Given the description of an element on the screen output the (x, y) to click on. 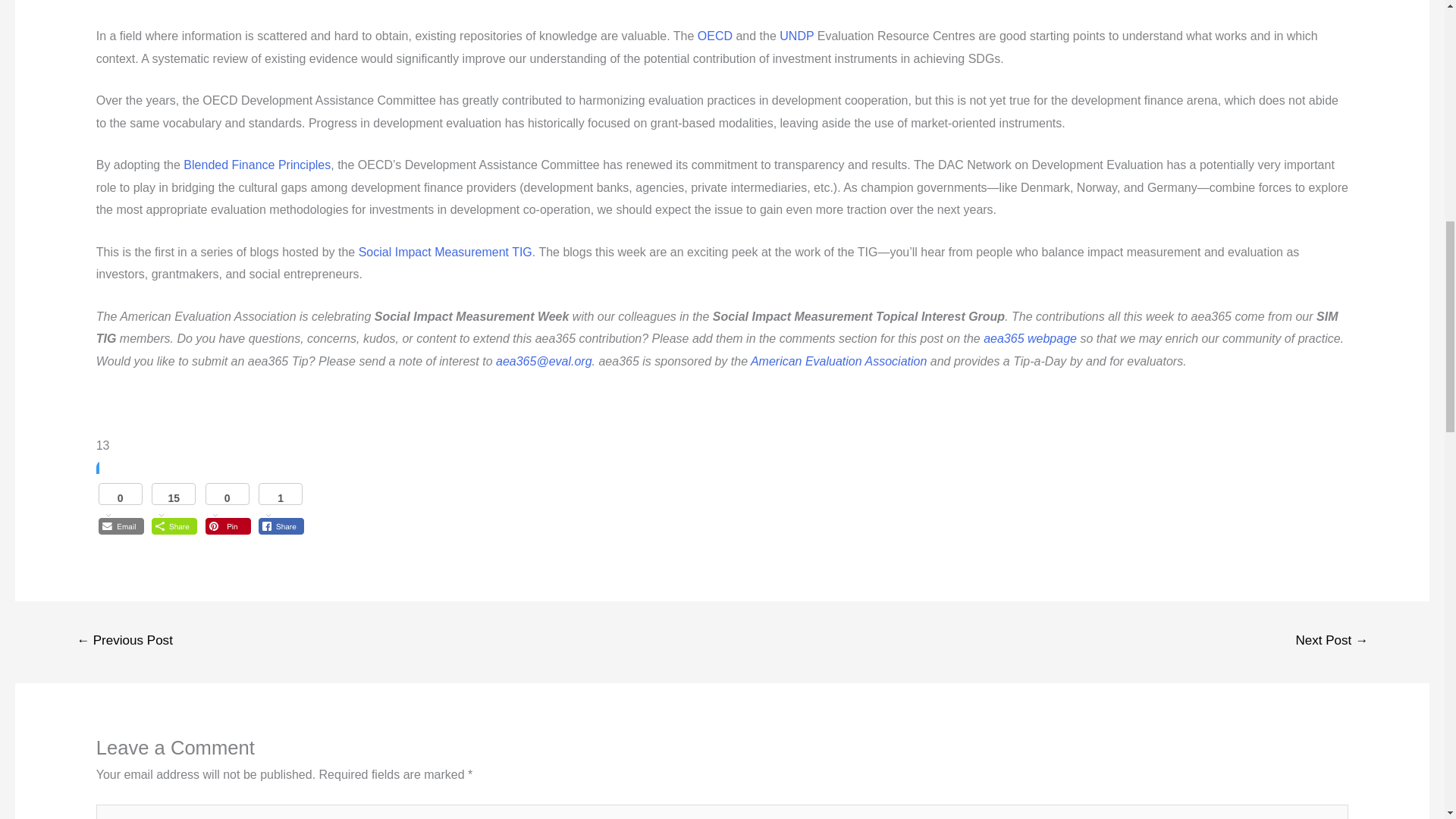
OECD (714, 35)
UNDP (795, 35)
American Evaluation Association (837, 360)
aea365 webpage (1028, 338)
Social Impact Measurement TIG (445, 251)
Blended Finance Principles (256, 164)
